Given the description of an element on the screen output the (x, y) to click on. 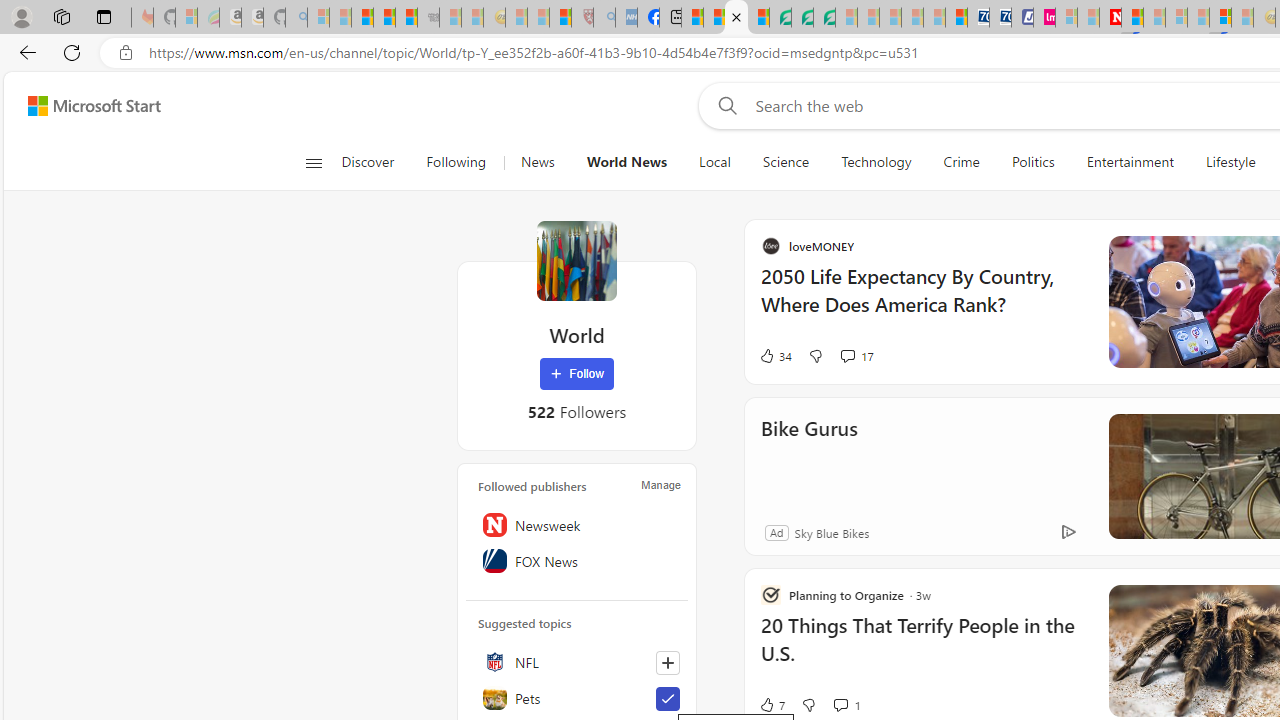
NFL (577, 661)
Bike Gurus (1001, 455)
Local - MSN (560, 17)
